Given the description of an element on the screen output the (x, y) to click on. 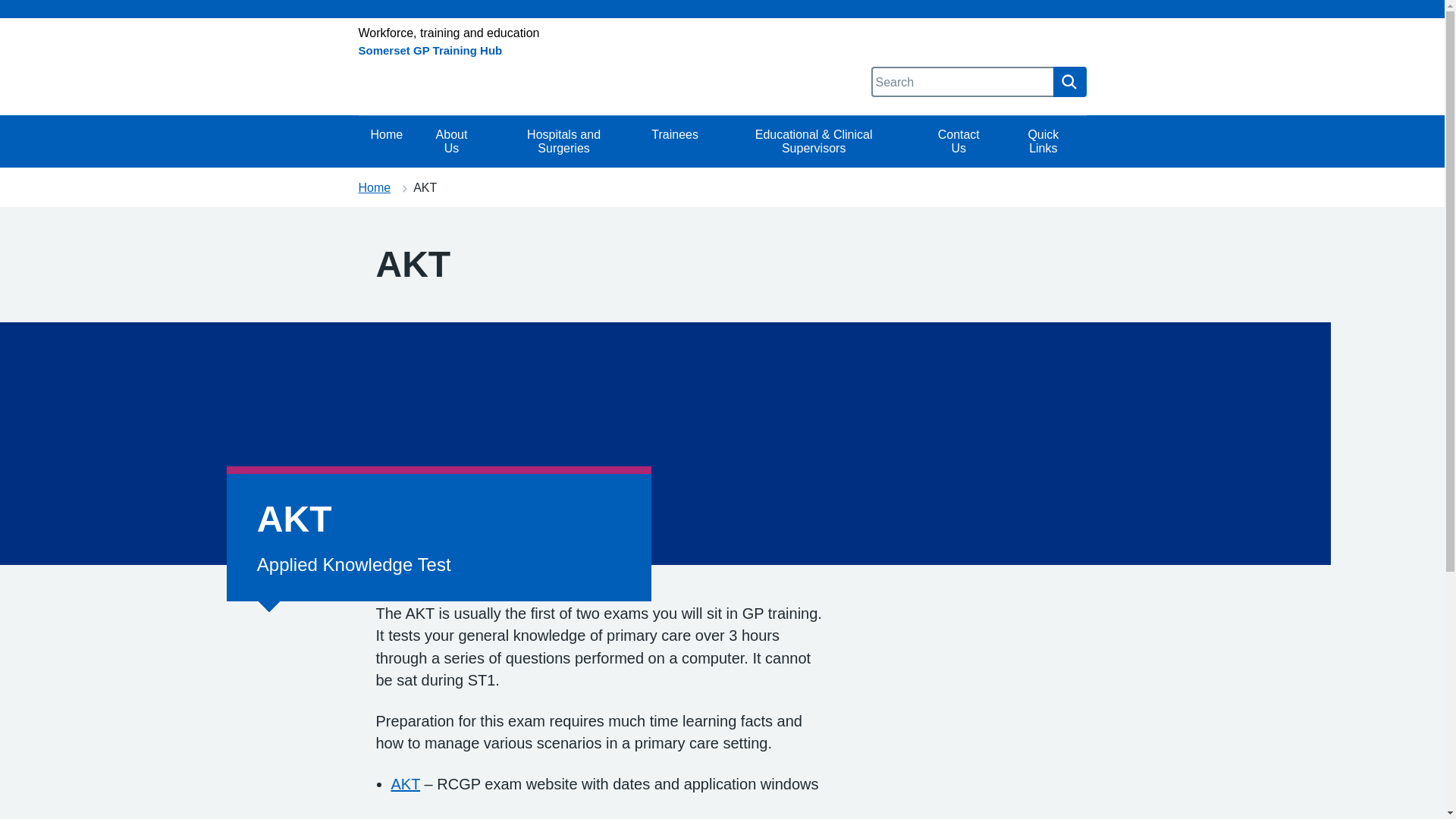
Somerset GP Training Hub (430, 50)
Home (374, 187)
NHS England (722, 9)
About Us (450, 141)
Hospitals and Surgeries (563, 141)
AKT (405, 783)
Quick Links (1043, 141)
Search (1069, 81)
Home (386, 141)
Trainees (674, 141)
